Given the description of an element on the screen output the (x, y) to click on. 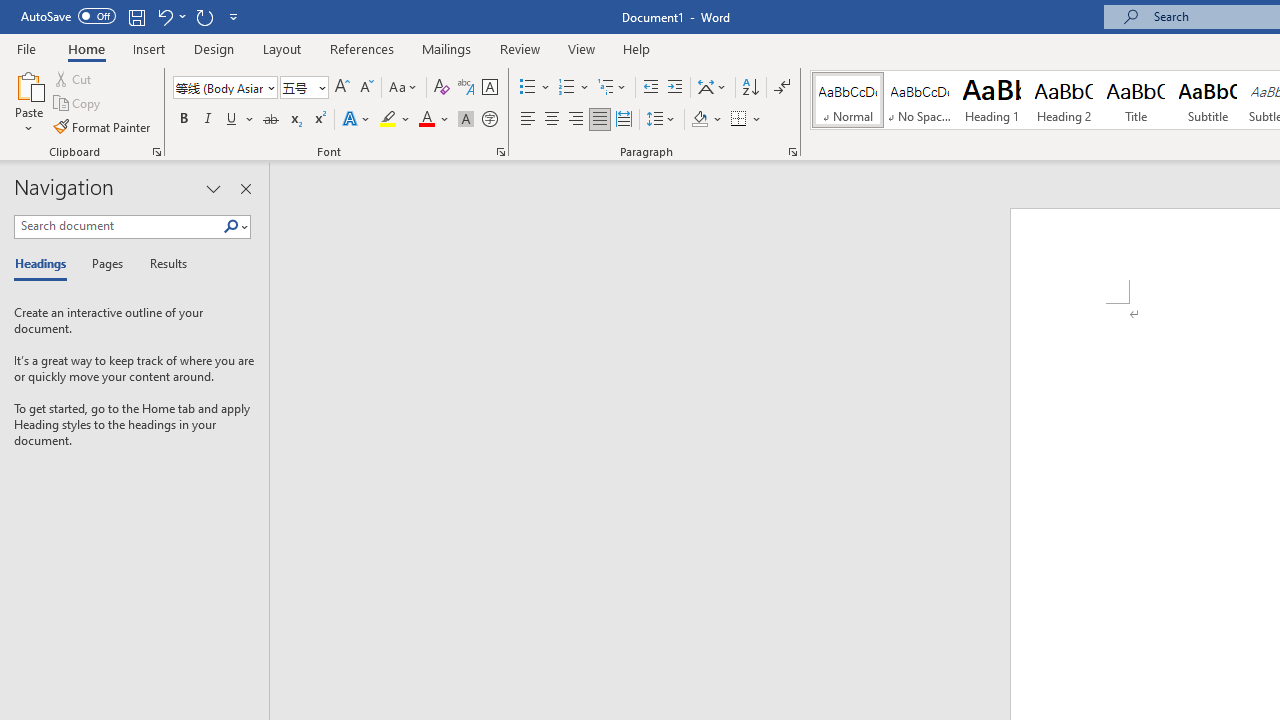
Heading 1 (991, 100)
Subtitle (1208, 100)
